Given the description of an element on the screen output the (x, y) to click on. 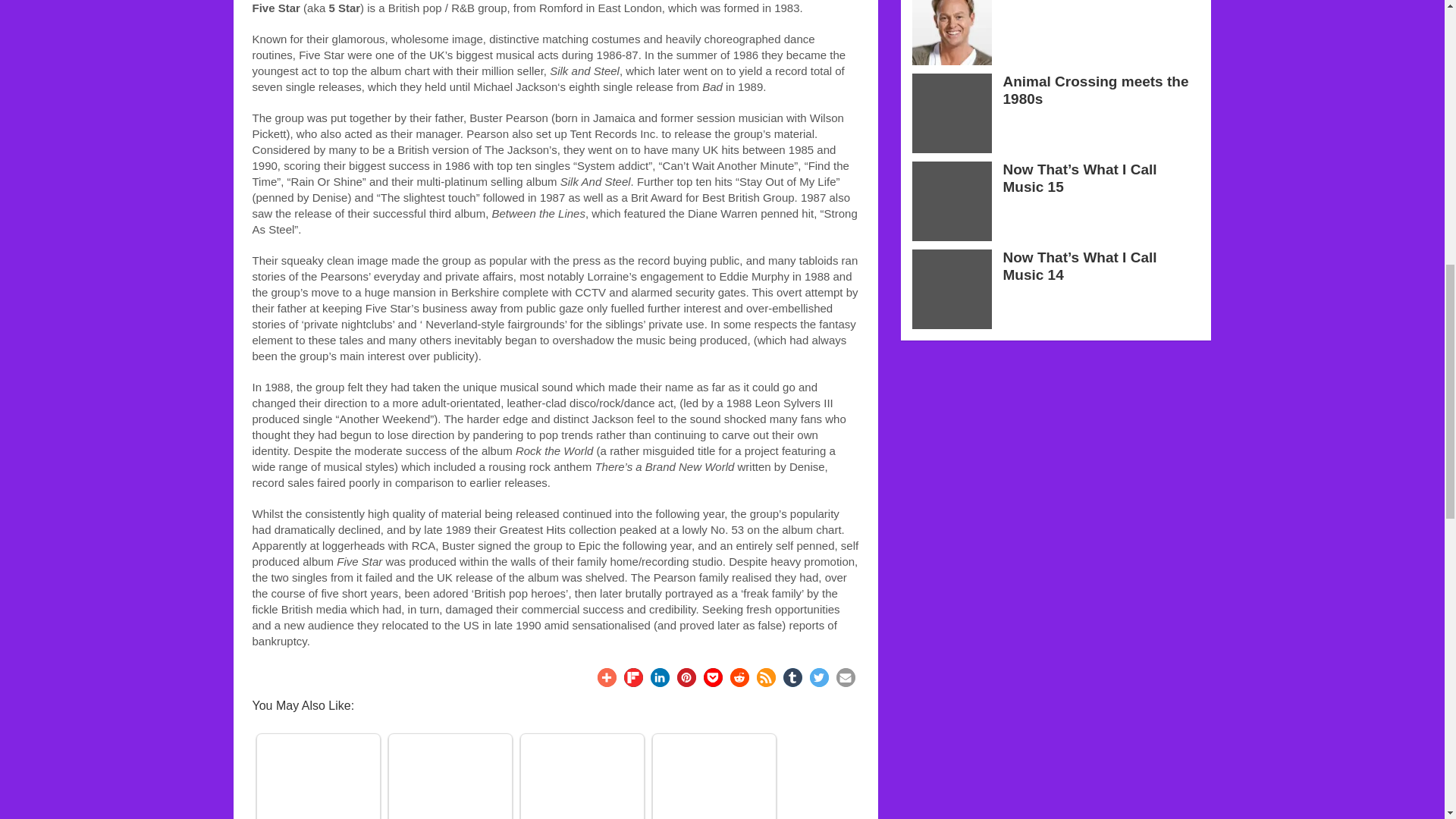
RSS feed (766, 677)
Share on tumblr (792, 677)
Share on Reddit (738, 677)
Save to Pocket (712, 677)
Share on LinkedIn (659, 677)
Share on Flipboard (632, 677)
Pin it on Pinterest (686, 677)
Share on AddThis (605, 677)
